Given the description of an element on the screen output the (x, y) to click on. 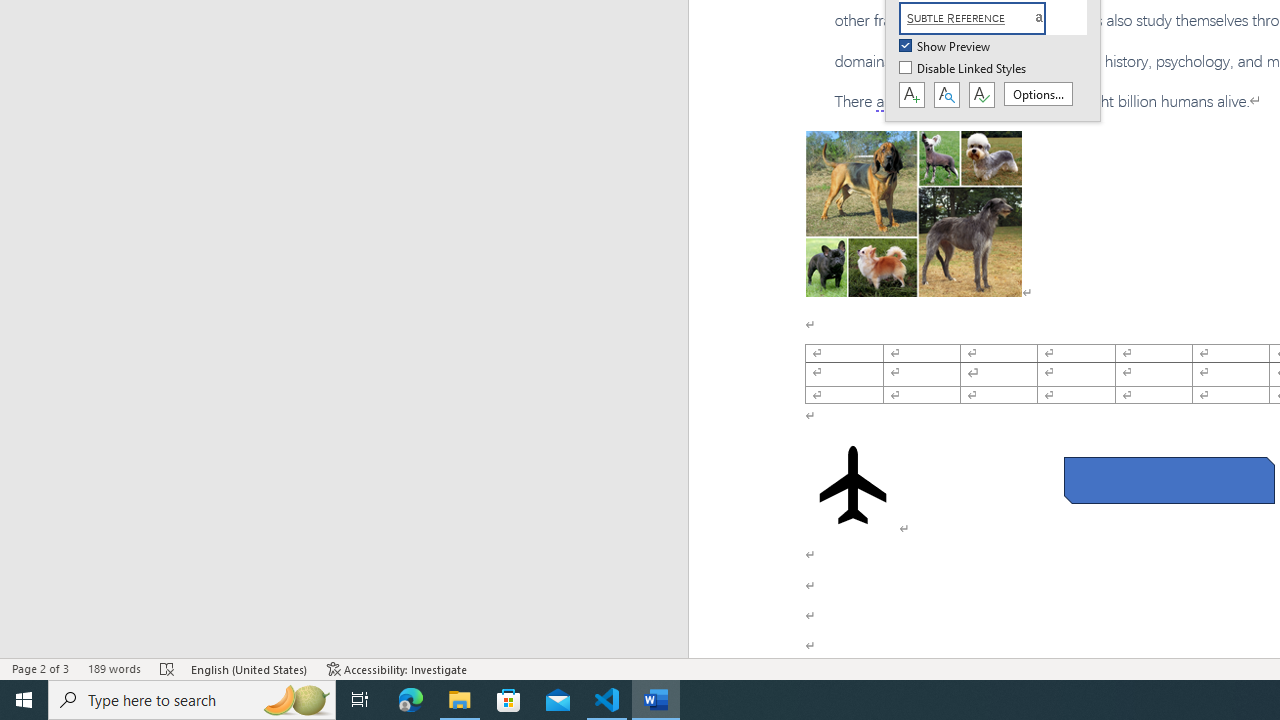
Show Preview (946, 47)
Options... (1037, 93)
Class: NetUIButton (981, 95)
Disable Linked Styles (964, 69)
Page Number Page 2 of 3 (39, 668)
